Given the description of an element on the screen output the (x, y) to click on. 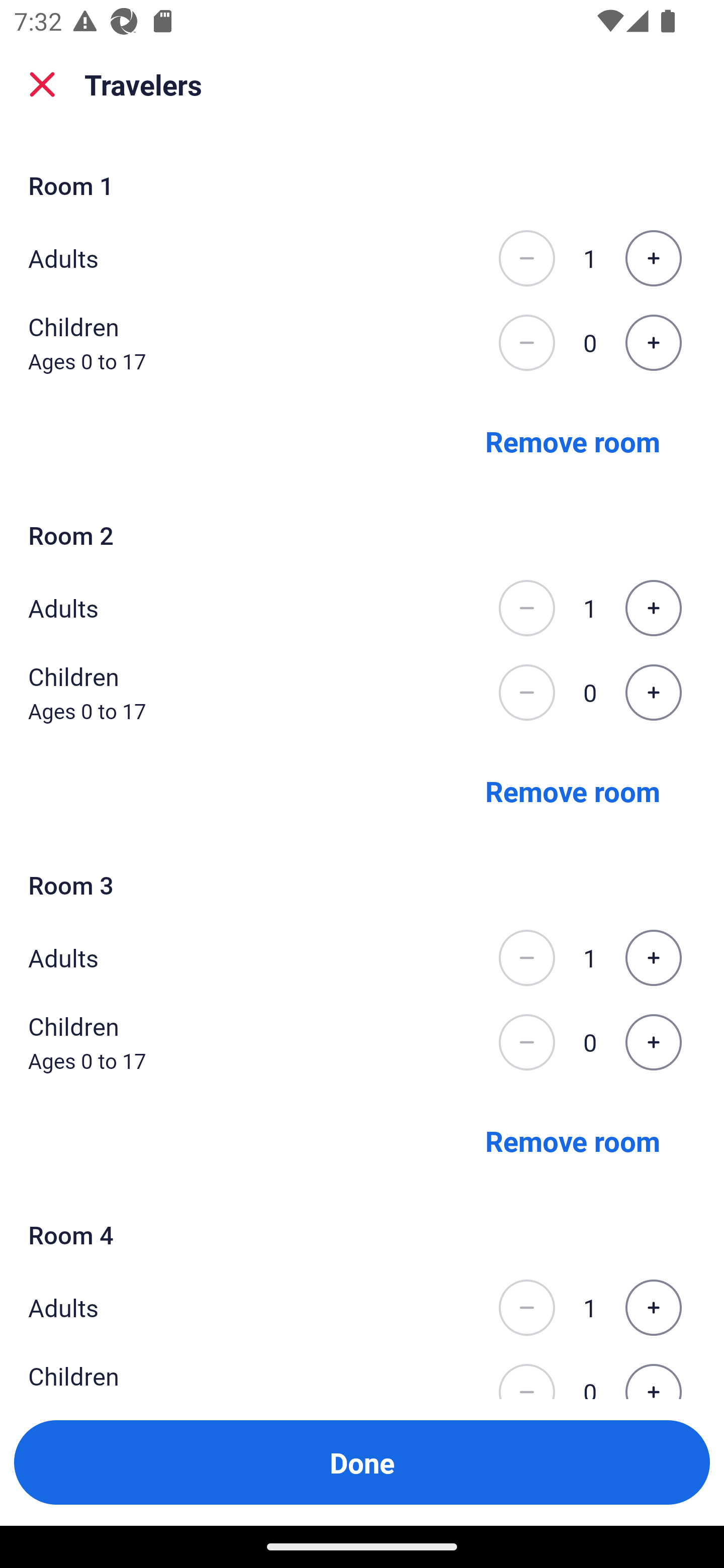
close (42, 84)
Decrease the number of adults (526, 258)
Increase the number of adults (653, 258)
Decrease the number of children (526, 343)
Increase the number of children (653, 343)
Remove room (572, 440)
Decrease the number of adults (526, 608)
Increase the number of adults (653, 608)
Decrease the number of children (526, 692)
Increase the number of children (653, 692)
Remove room (572, 790)
Decrease the number of adults (526, 957)
Increase the number of adults (653, 957)
Decrease the number of children (526, 1042)
Increase the number of children (653, 1042)
Remove room (572, 1140)
Decrease the number of adults (526, 1307)
Increase the number of adults (653, 1307)
Done (361, 1462)
